Given the description of an element on the screen output the (x, y) to click on. 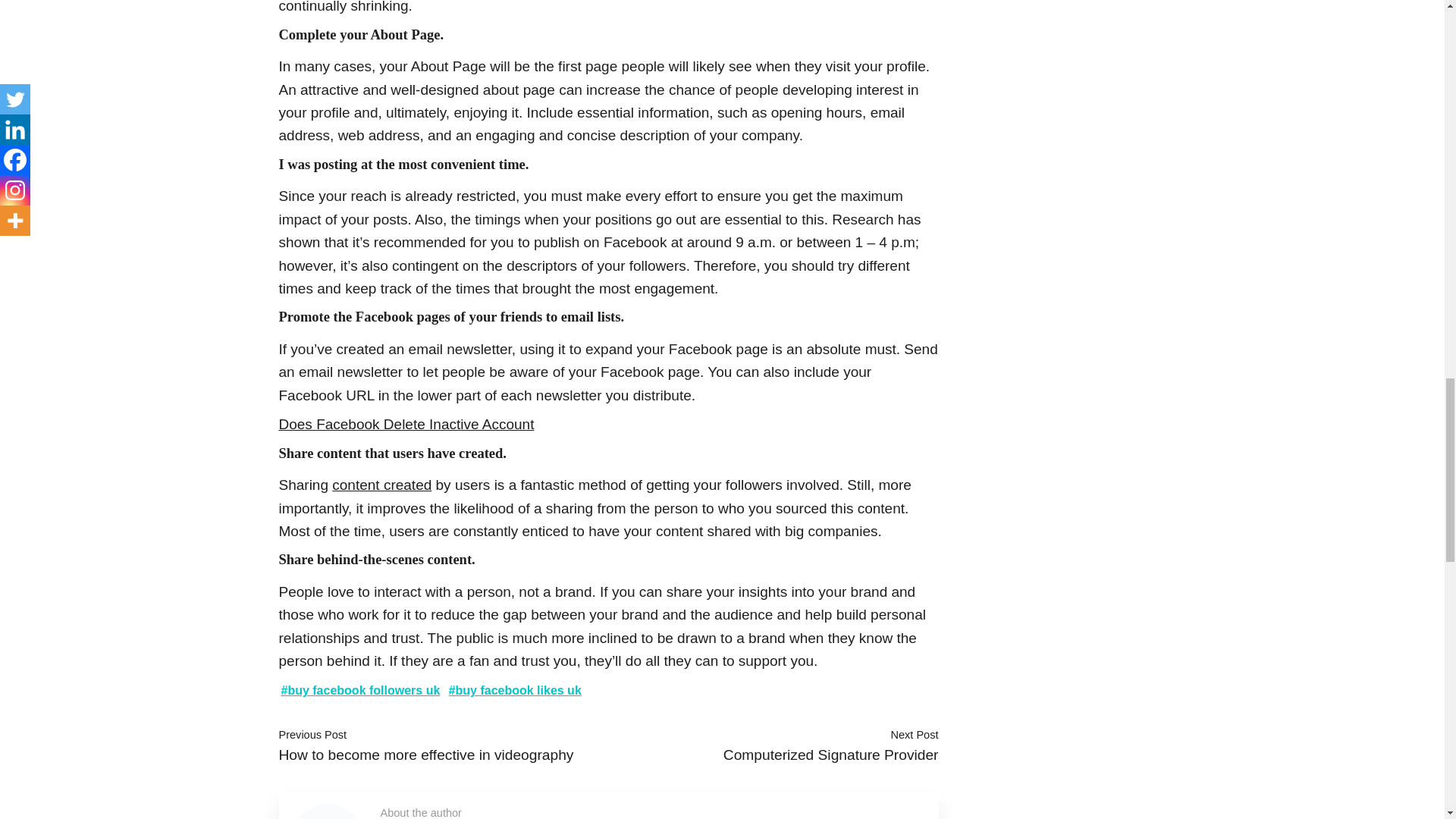
Does Facebook Delete Inactive Account (406, 424)
content created (380, 484)
